Given the description of an element on the screen output the (x, y) to click on. 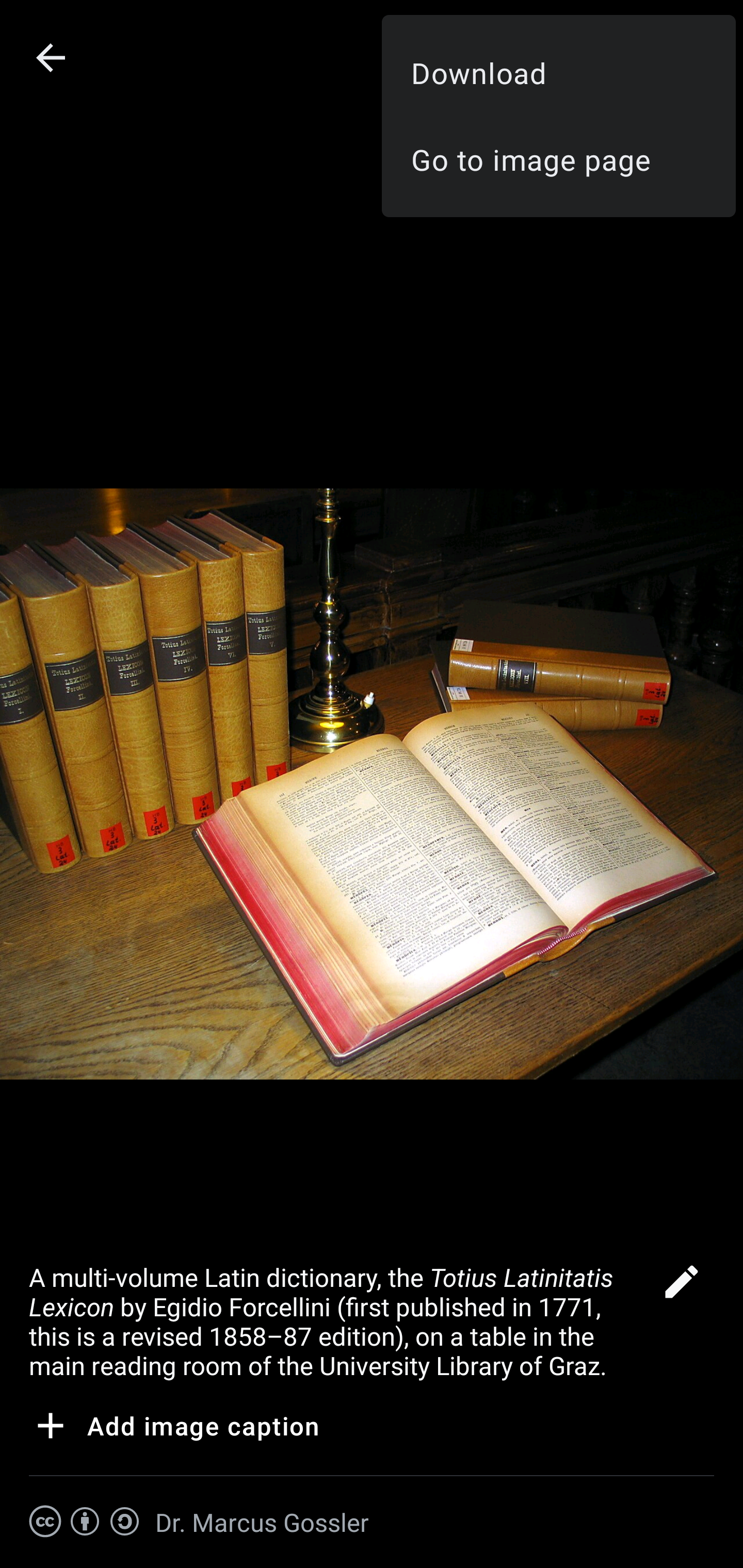
Download (558, 72)
Go to image page (558, 159)
